Given the description of an element on the screen output the (x, y) to click on. 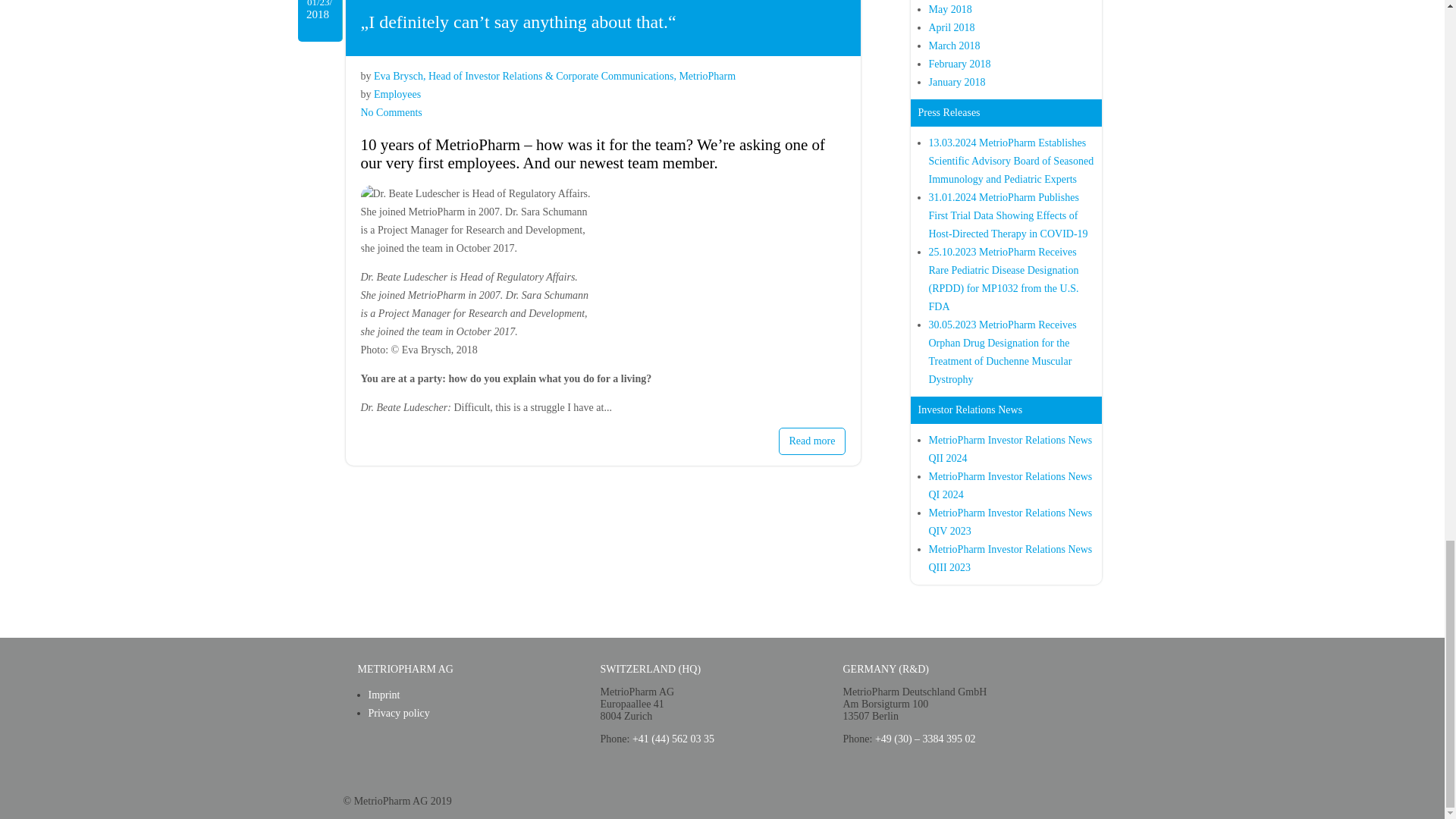
Employees (397, 93)
Read more (811, 441)
